Given the description of an element on the screen output the (x, y) to click on. 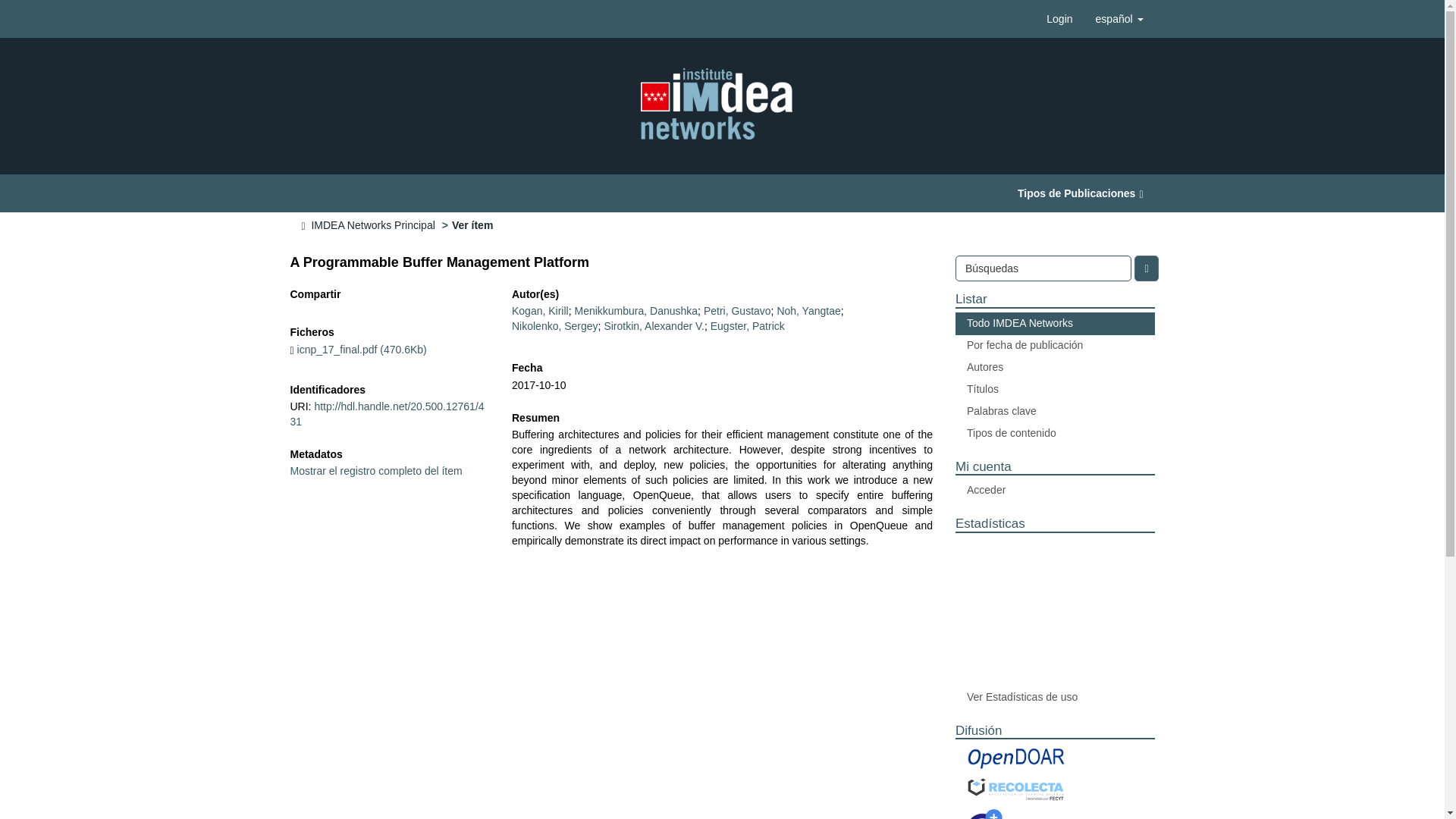
Petri, Gustavo (737, 310)
Login (1059, 18)
Eugster, Patrick (747, 326)
Tipos de Publicaciones (1080, 193)
Kogan, Kirill (540, 310)
Menikkumbura, Danushka (635, 310)
Ir (1145, 268)
Noh, Yangtae (808, 310)
IMDEA Networks Principal (372, 224)
Nikolenko, Sergey (555, 326)
